Given the description of an element on the screen output the (x, y) to click on. 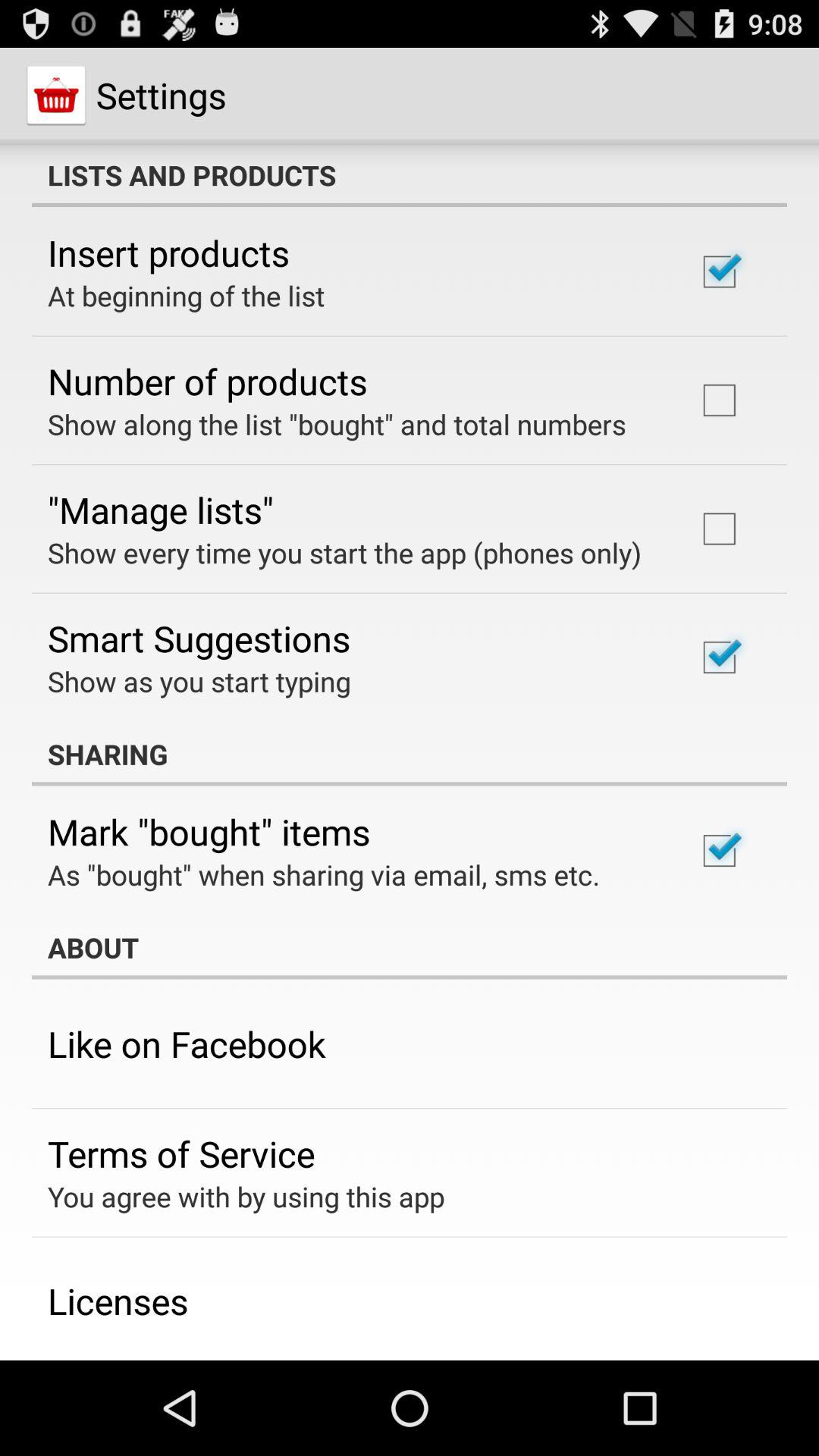
turn off icon above the as bought when item (208, 831)
